Given the description of an element on the screen output the (x, y) to click on. 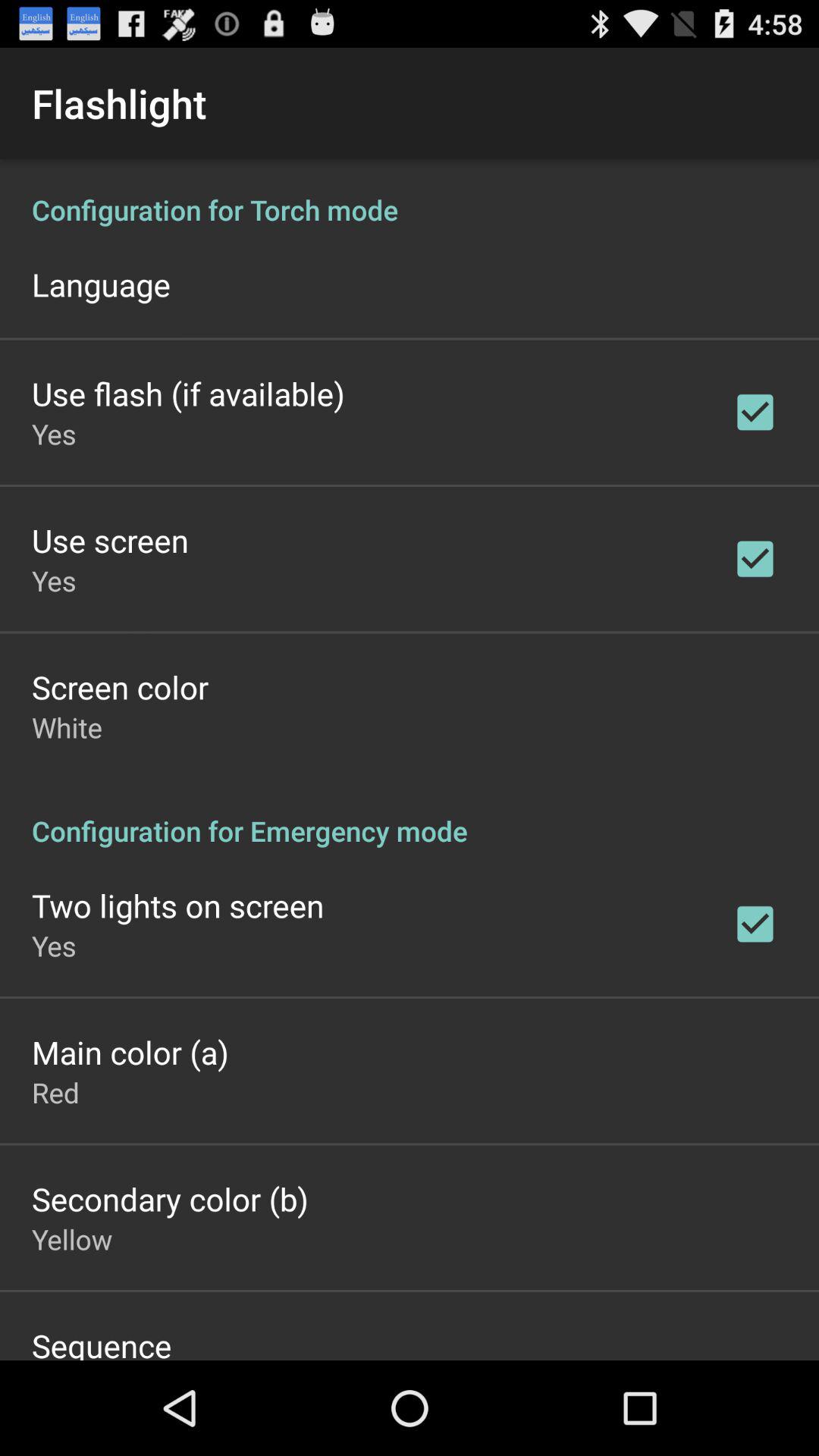
launch the item below language (187, 393)
